Given the description of an element on the screen output the (x, y) to click on. 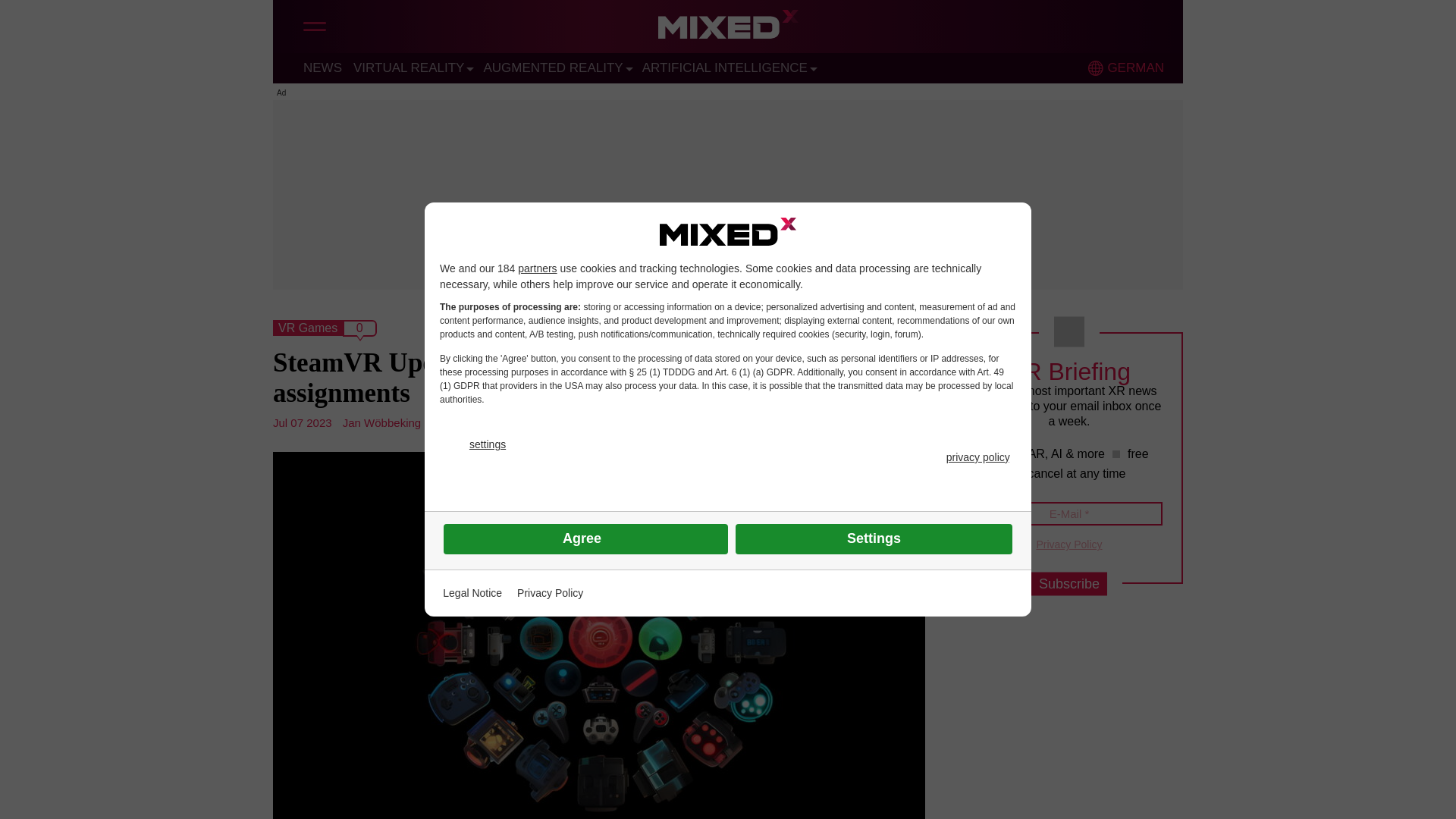
Subscribe (1068, 584)
VIRTUAL REALITY (408, 67)
german (1095, 68)
MIXED Reality News (727, 28)
AUGMENTED REALITY (553, 67)
NEWS (322, 67)
ARTIFICIAL INTELLIGENCE (725, 67)
Jul 07 2023 (302, 422)
MIXED Reality News (727, 28)
